Given the description of an element on the screen output the (x, y) to click on. 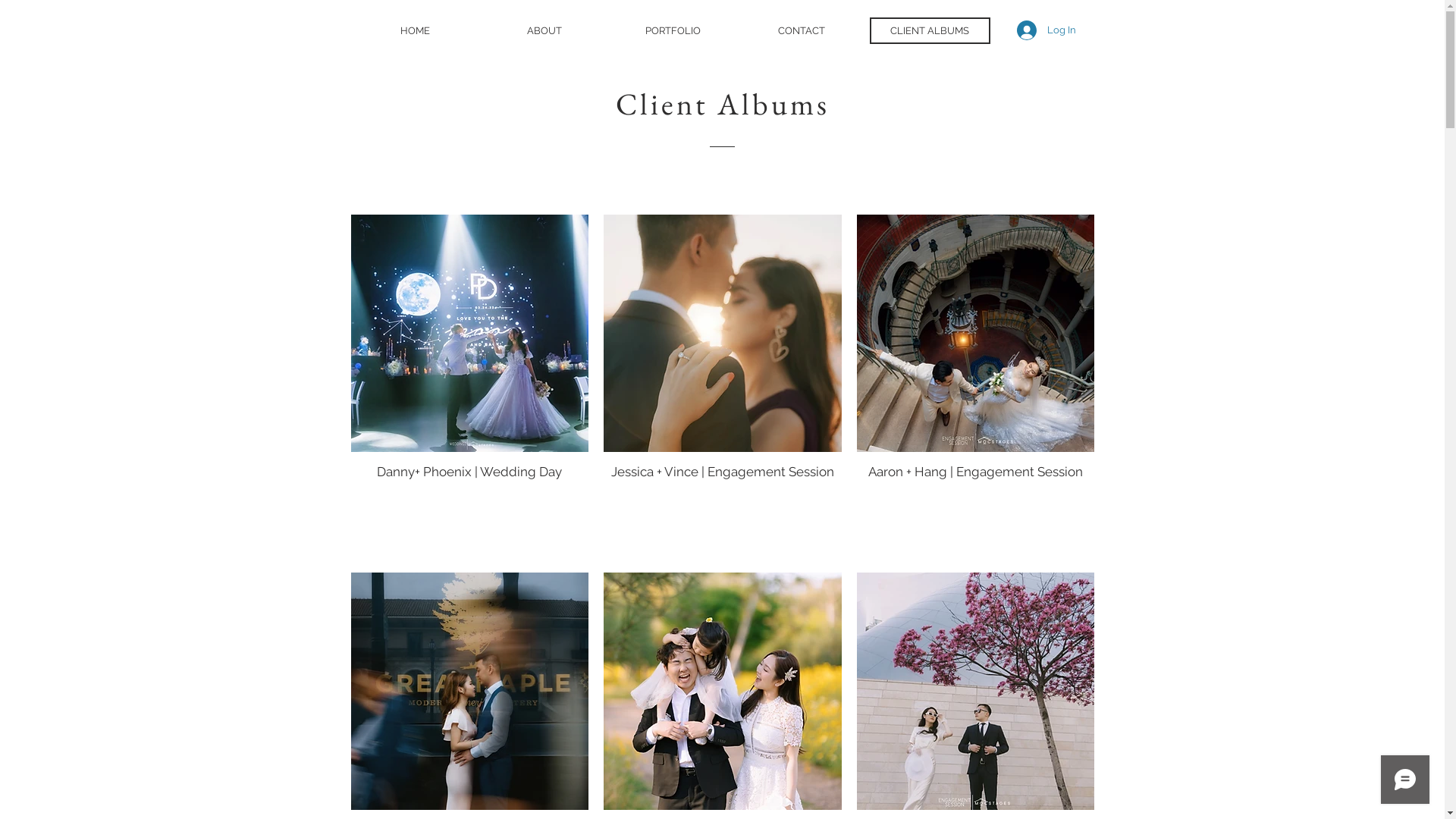
PORTFOLIO Element type: text (673, 30)
HOME Element type: text (415, 30)
ABOUT Element type: text (544, 30)
CLIENT ALBUMS Element type: text (929, 30)
Log In Element type: text (1045, 29)
CONTACT Element type: text (801, 30)
